Given the description of an element on the screen output the (x, y) to click on. 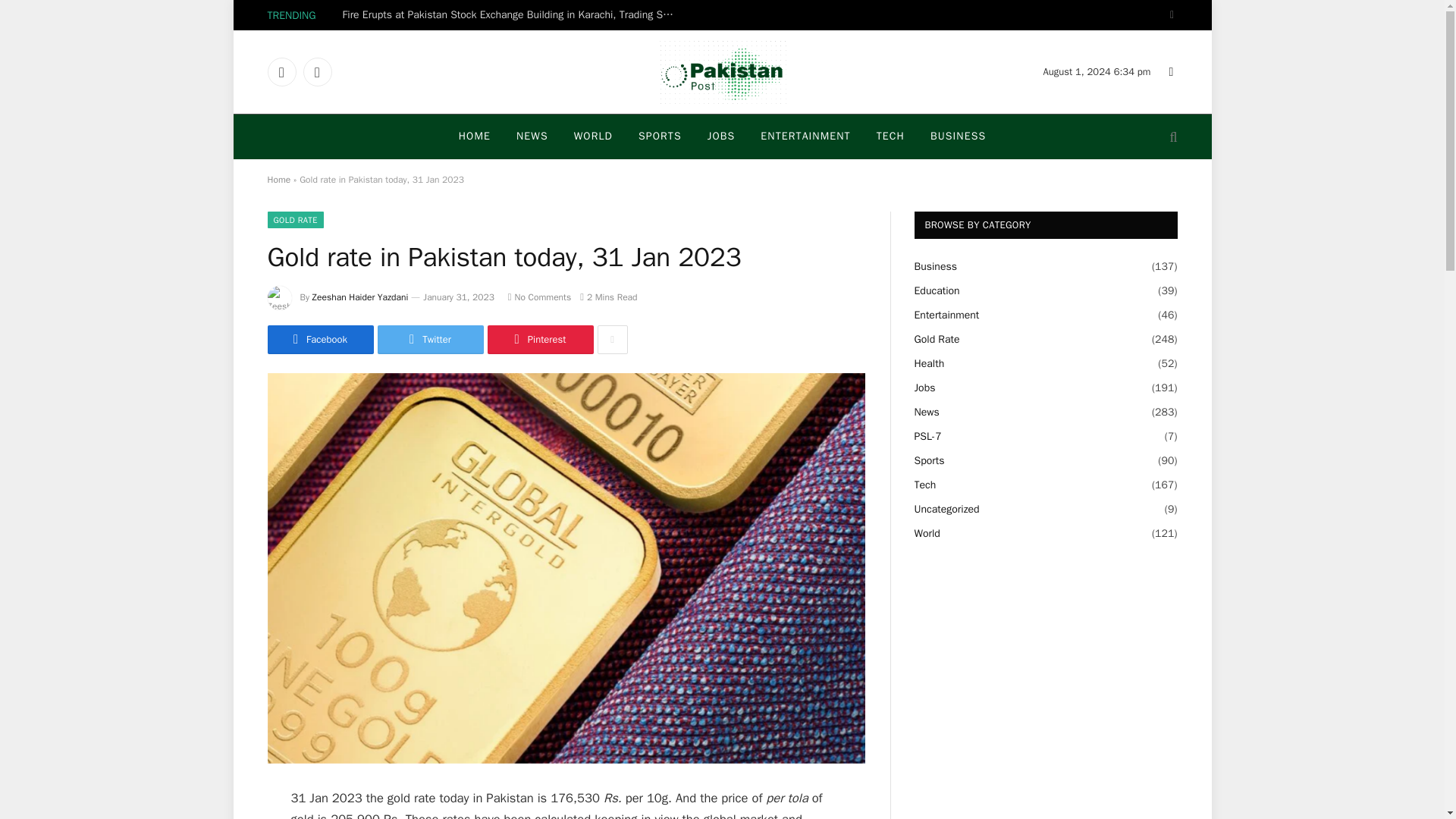
Zeeshan Haider Yazdani (361, 297)
WORLD (593, 136)
Twitter (316, 71)
Pinterest (539, 339)
Facebook (280, 71)
Share on Facebook (319, 339)
HOME (474, 136)
TECH (890, 136)
ENTERTAINMENT (805, 136)
GOLD RATE (294, 219)
Share on Twitter (430, 339)
Show More Social Sharing (611, 339)
Twitter (430, 339)
Switch to Dark Design - easier on eyes. (1169, 14)
Pakistan Post (721, 71)
